Given the description of an element on the screen output the (x, y) to click on. 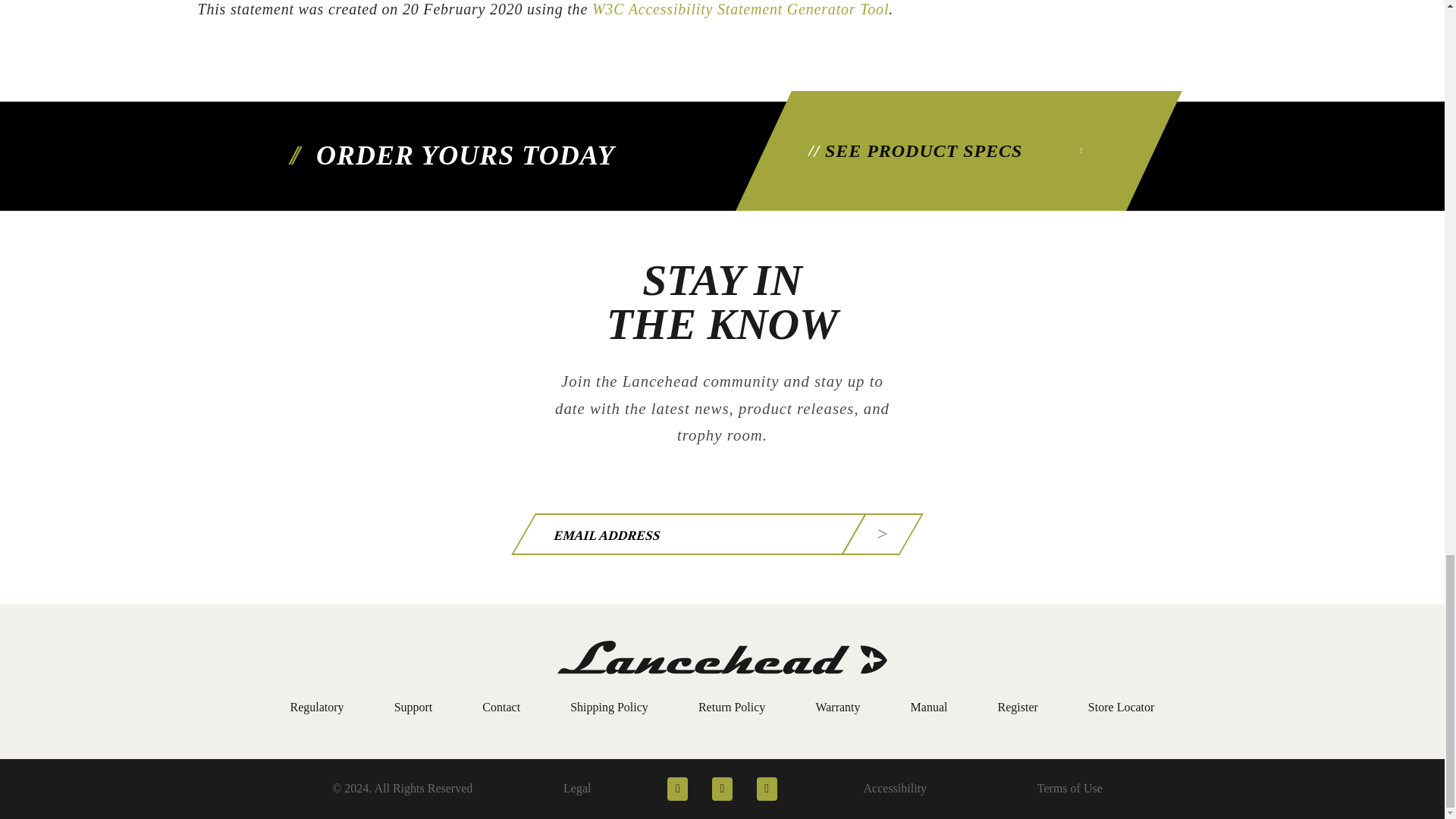
Register (1016, 707)
Terms of Use (1069, 788)
Store Locator (1120, 707)
Manual (929, 707)
Legal (577, 788)
Accessibility (895, 788)
Return Policy (731, 707)
Contact (500, 707)
Regulatory (316, 707)
Warranty (837, 707)
